Given the description of an element on the screen output the (x, y) to click on. 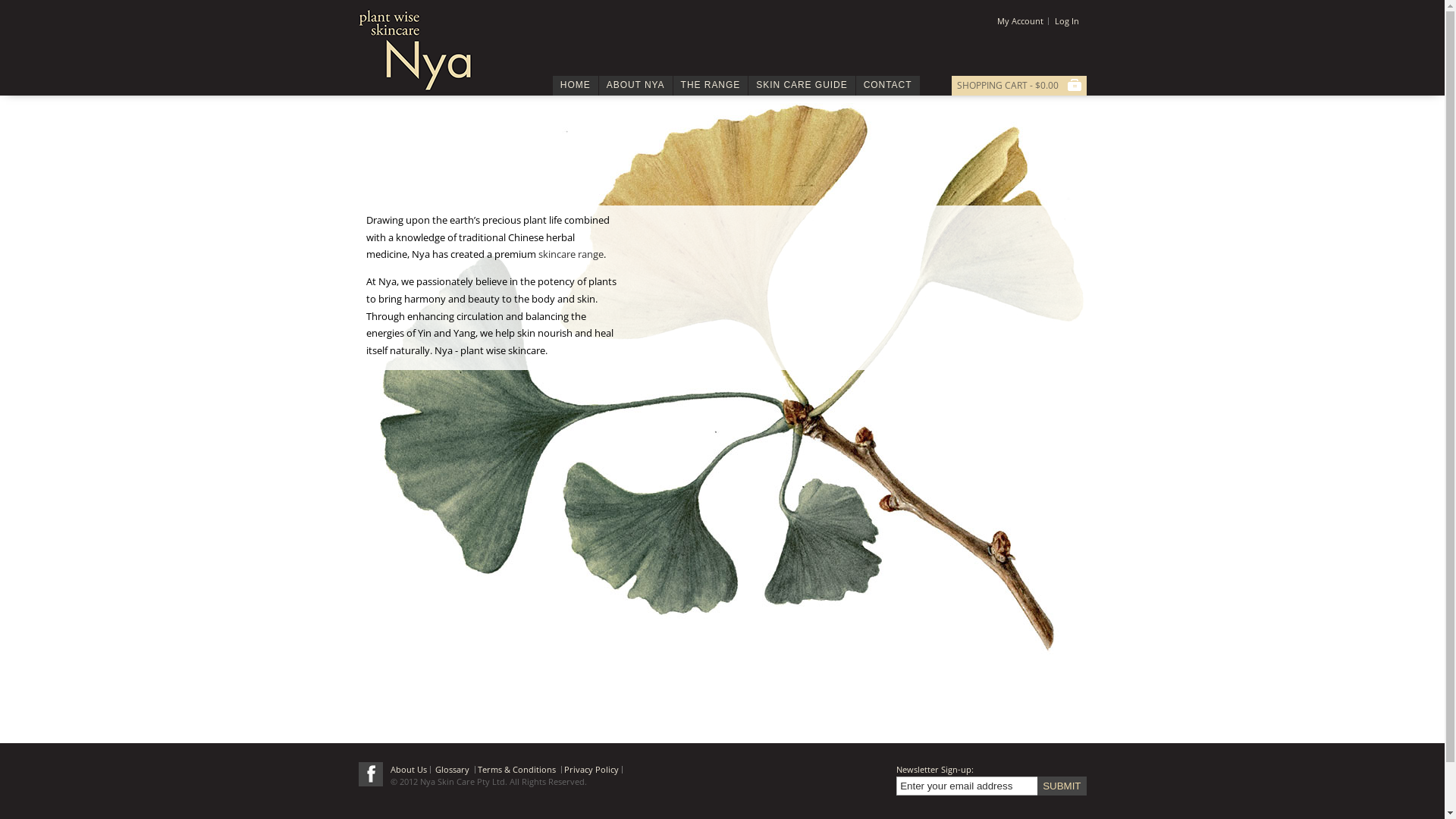
skincare range Element type: text (570, 253)
HOME Element type: text (575, 85)
About Us Element type: text (407, 769)
SHOPPING CART - $0.00 Element type: text (1019, 85)
SUBMIT Element type: text (1061, 785)
My Account Element type: text (1022, 20)
Log In Element type: text (1066, 20)
CONTACT Element type: text (887, 85)
ABOUT NYA Element type: text (635, 85)
Nya Skin Care Element type: hover (414, 49)
Privacy Policy Element type: text (591, 769)
Terms & Conditions Element type: text (517, 769)
Glossary Element type: text (453, 769)
  Element type: text (369, 774)
THE RANGE Element type: text (710, 85)
SKIN CARE GUIDE Element type: text (801, 85)
Sign up for our newsletter Element type: hover (968, 785)
